Given the description of an element on the screen output the (x, y) to click on. 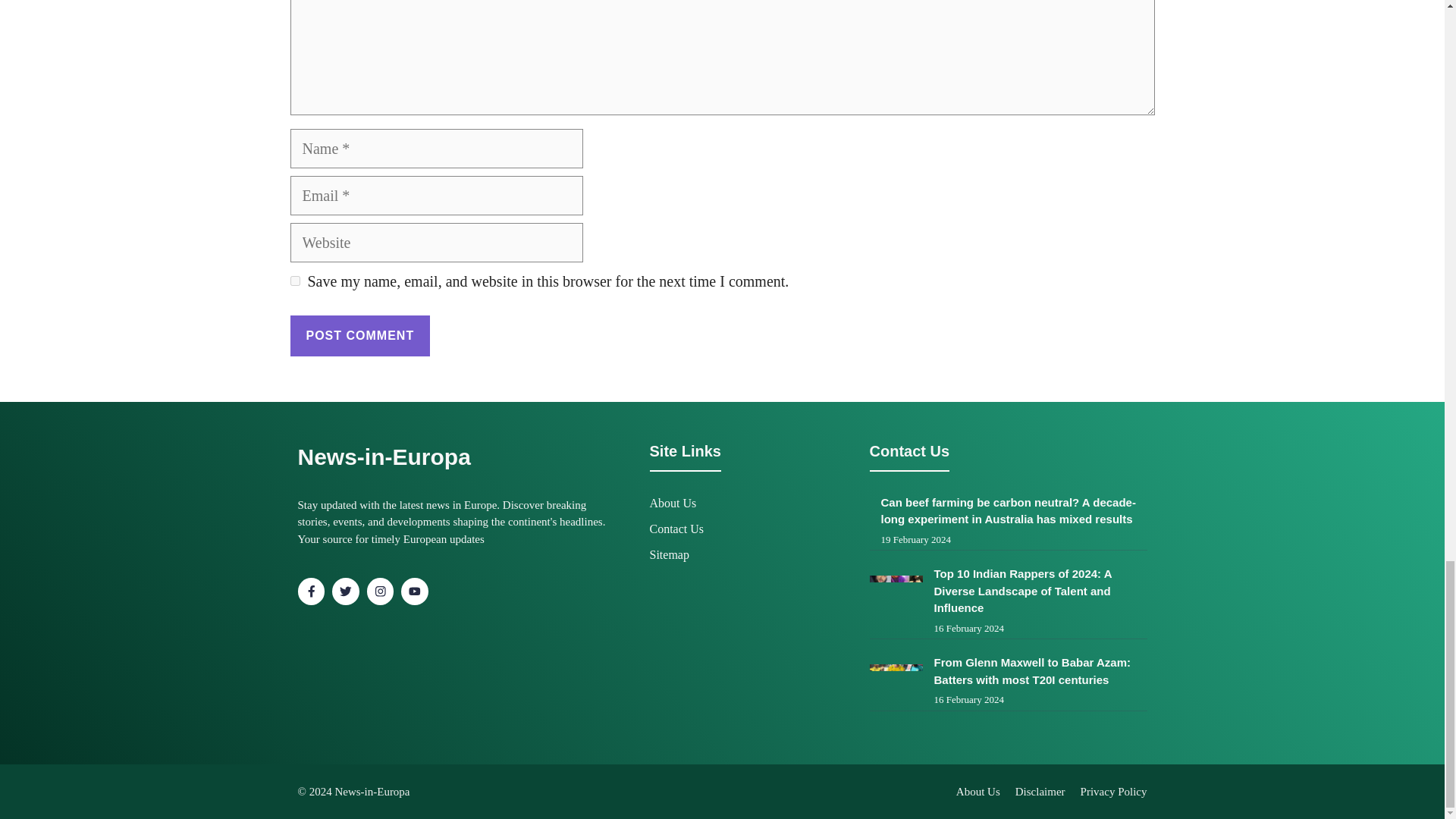
Post Comment (359, 335)
Contact Us (676, 528)
Sitemap (668, 554)
yes (294, 280)
About Us (978, 791)
Post Comment (359, 335)
Privacy Policy (1113, 791)
About Us (672, 502)
Disclaimer (1039, 791)
